Given the description of an element on the screen output the (x, y) to click on. 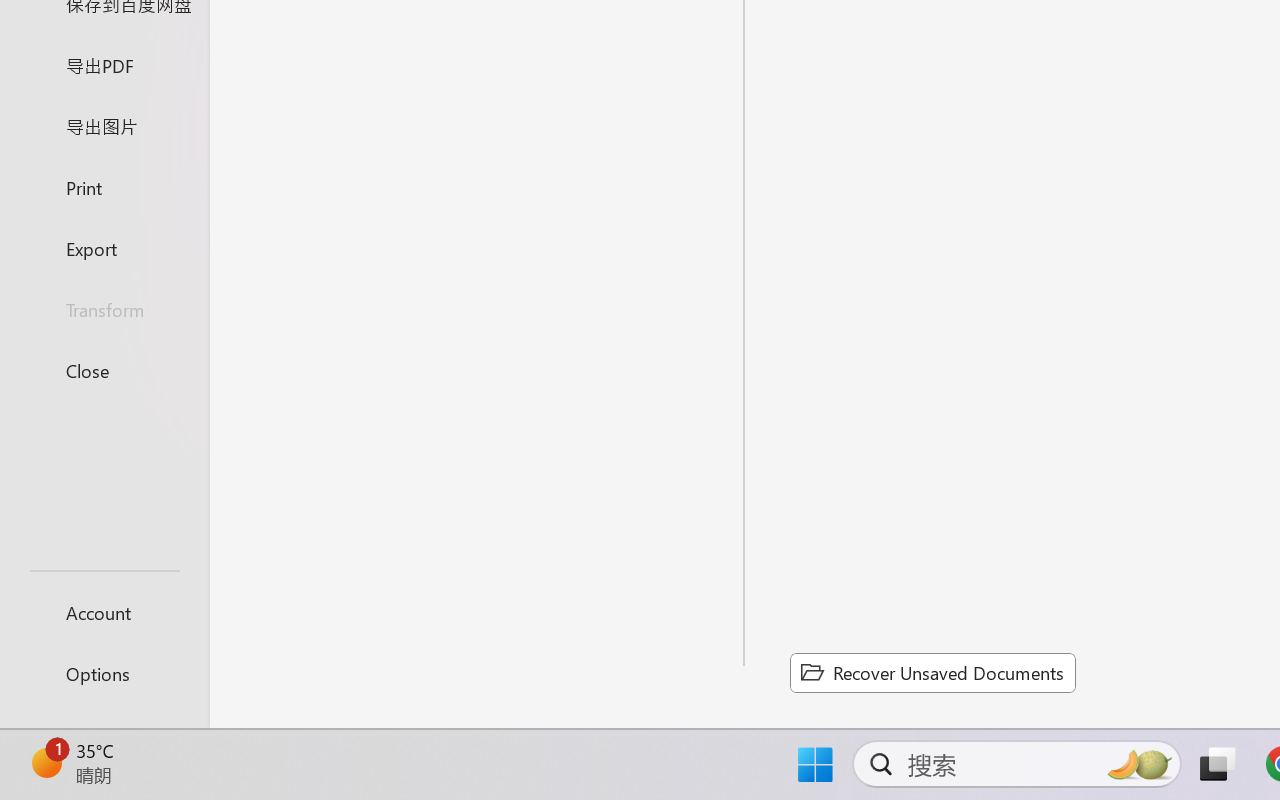
Recover Unsaved Documents (932, 672)
Options (104, 673)
Transform (104, 309)
Account (104, 612)
Export (104, 248)
Print (104, 186)
